Given the description of an element on the screen output the (x, y) to click on. 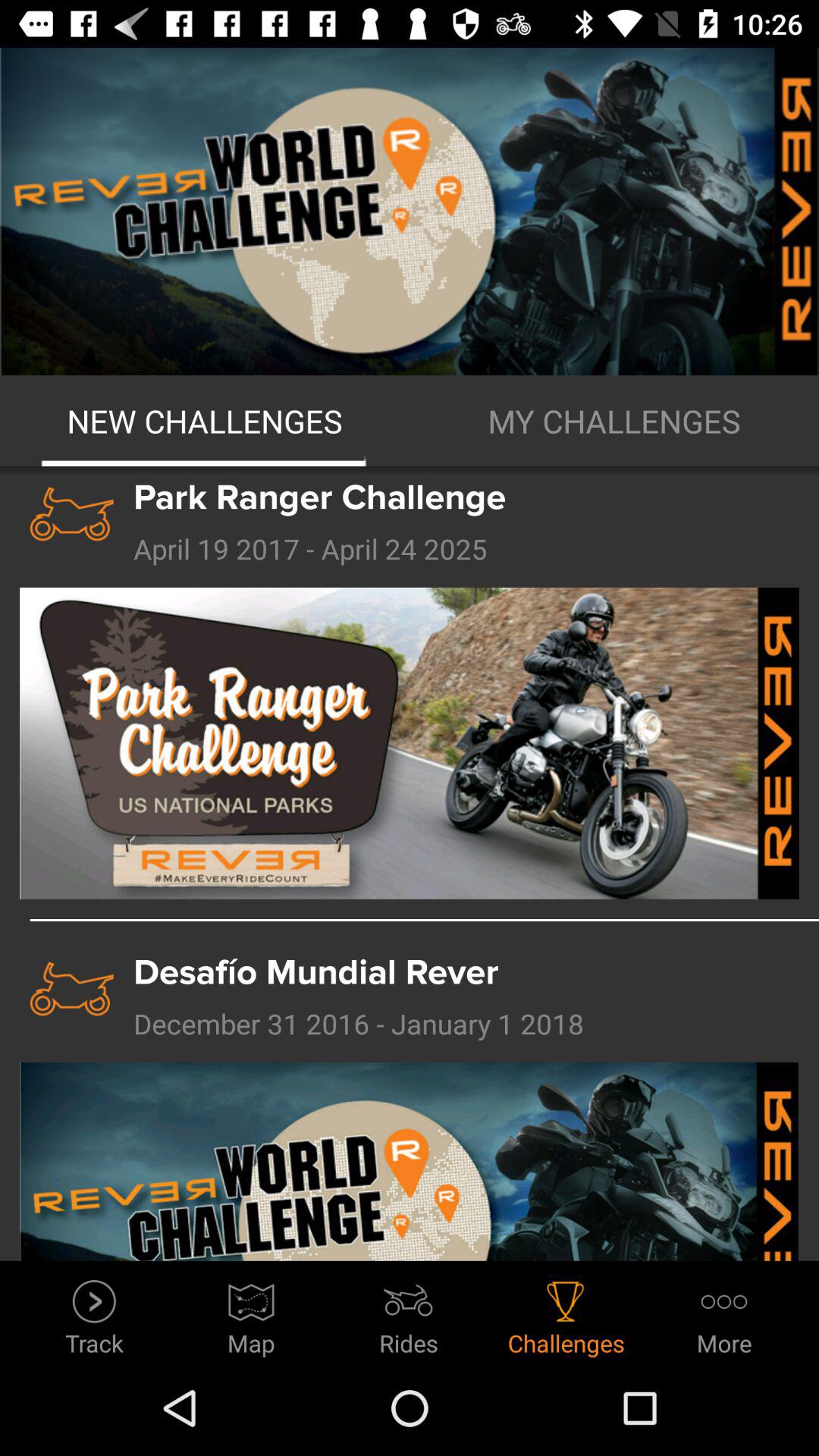
tap icon next to the my challenges (204, 420)
